Given the description of an element on the screen output the (x, y) to click on. 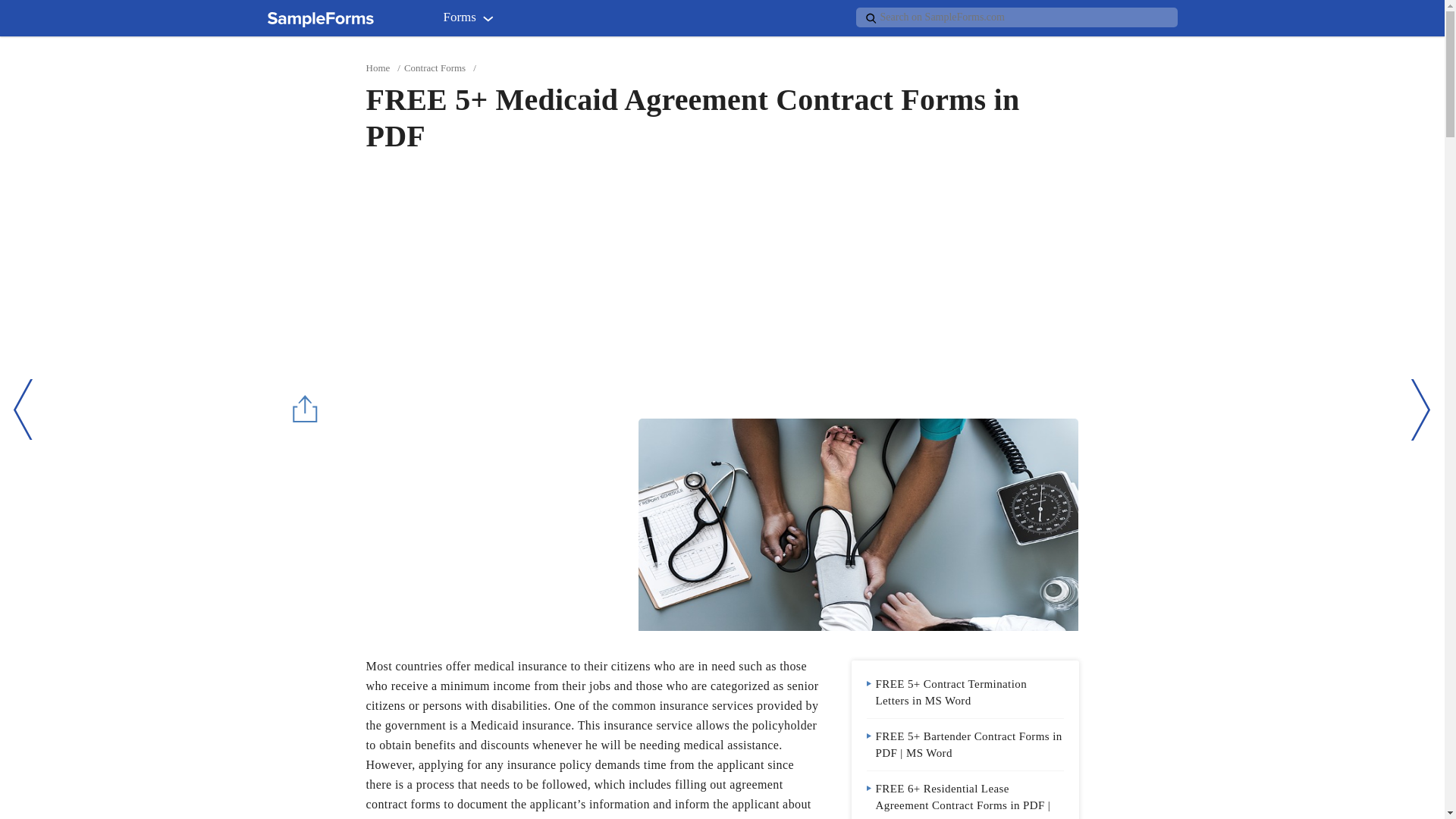
Home (377, 68)
Forms (471, 20)
